Given the description of an element on the screen output the (x, y) to click on. 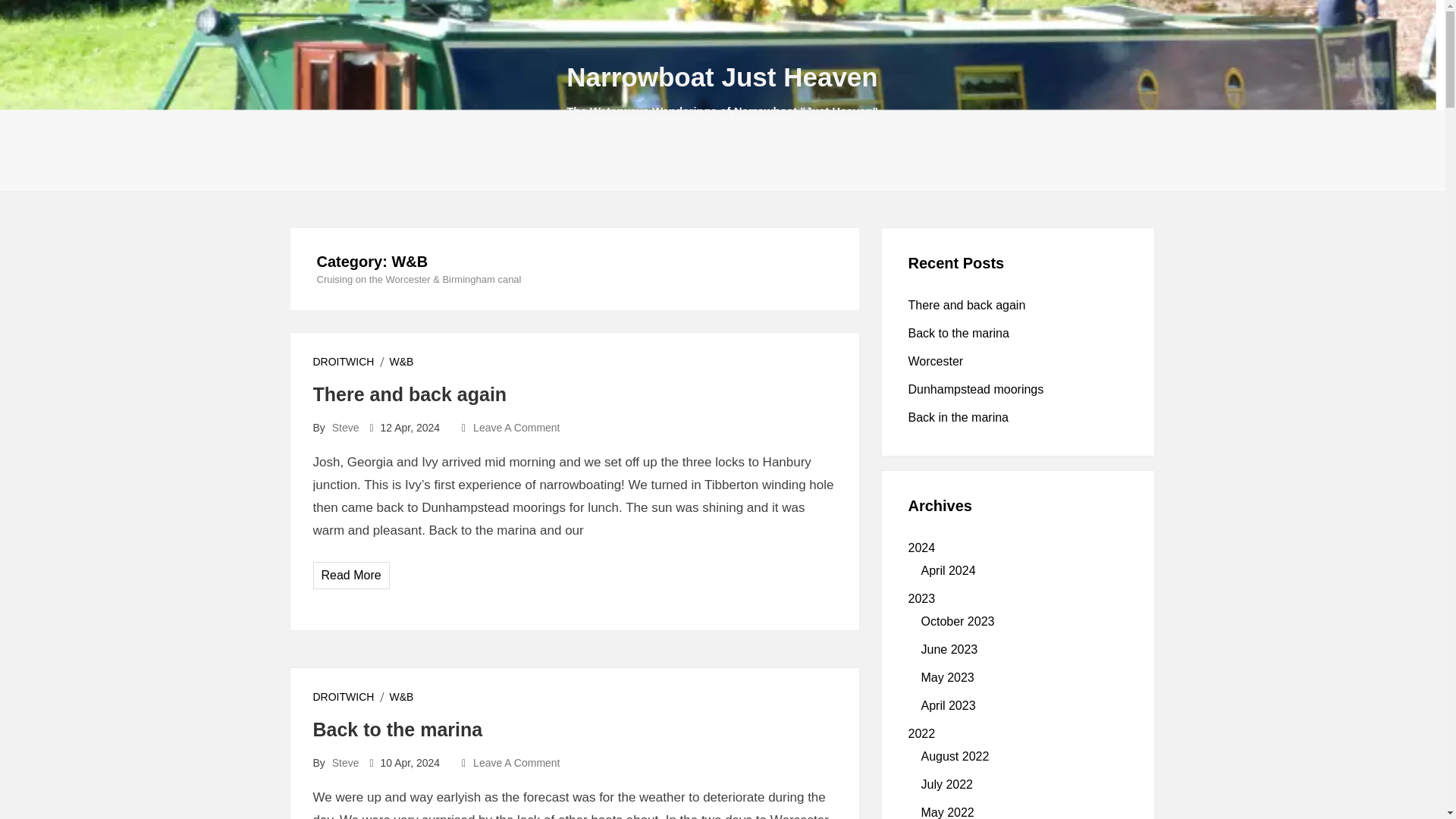
Narrowboat Just Heaven (721, 76)
Back to the marina (397, 729)
Read More (351, 574)
Leave A Comment (516, 427)
Leave A Comment (516, 762)
Steve (345, 762)
DROITWICH (343, 695)
There and back again (409, 394)
Steve (345, 427)
DROITWICH (343, 360)
